Given the description of an element on the screen output the (x, y) to click on. 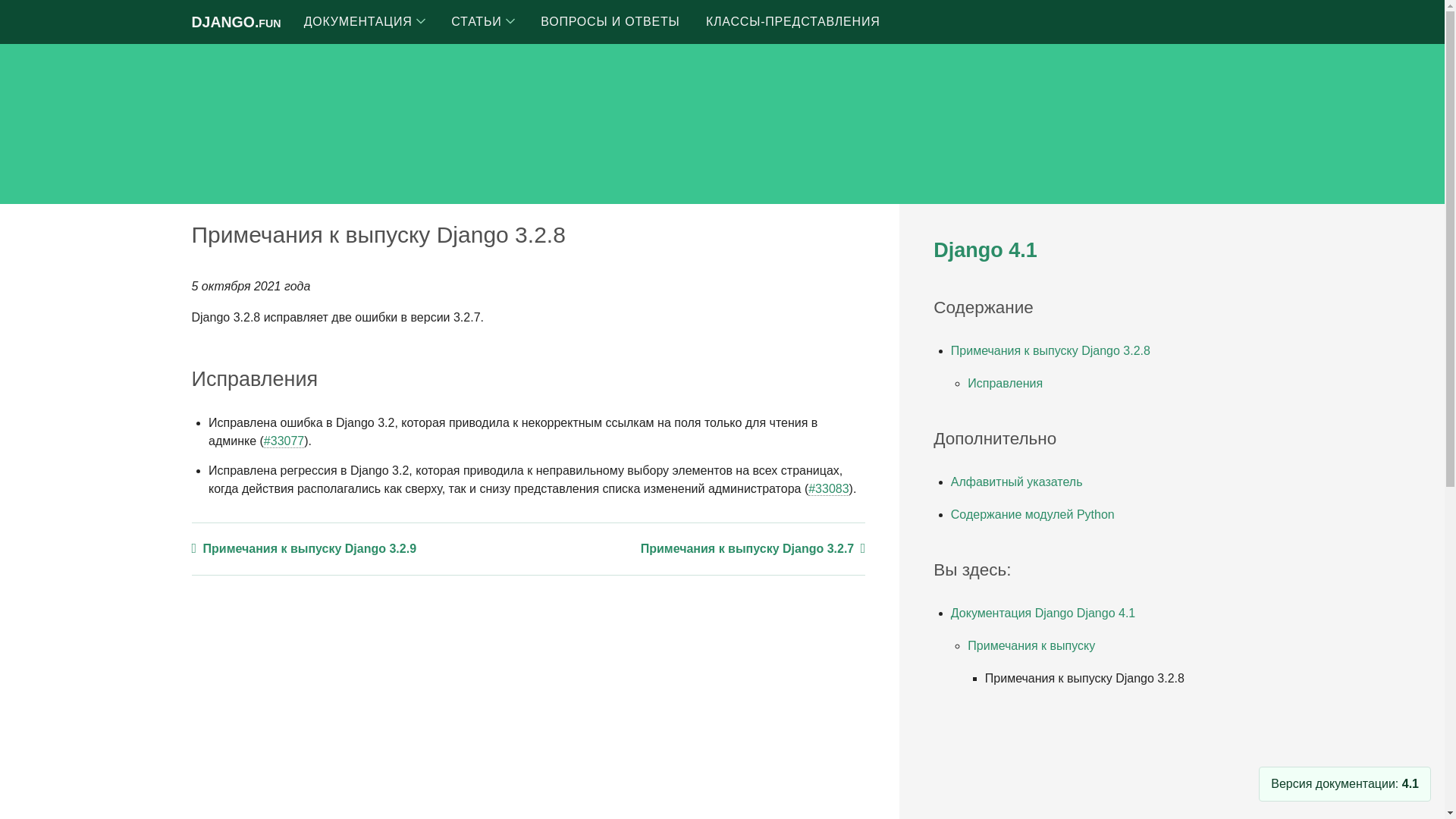
DJANGO.FUN (235, 21)
Django 4.1 (984, 250)
